Given the description of an element on the screen output the (x, y) to click on. 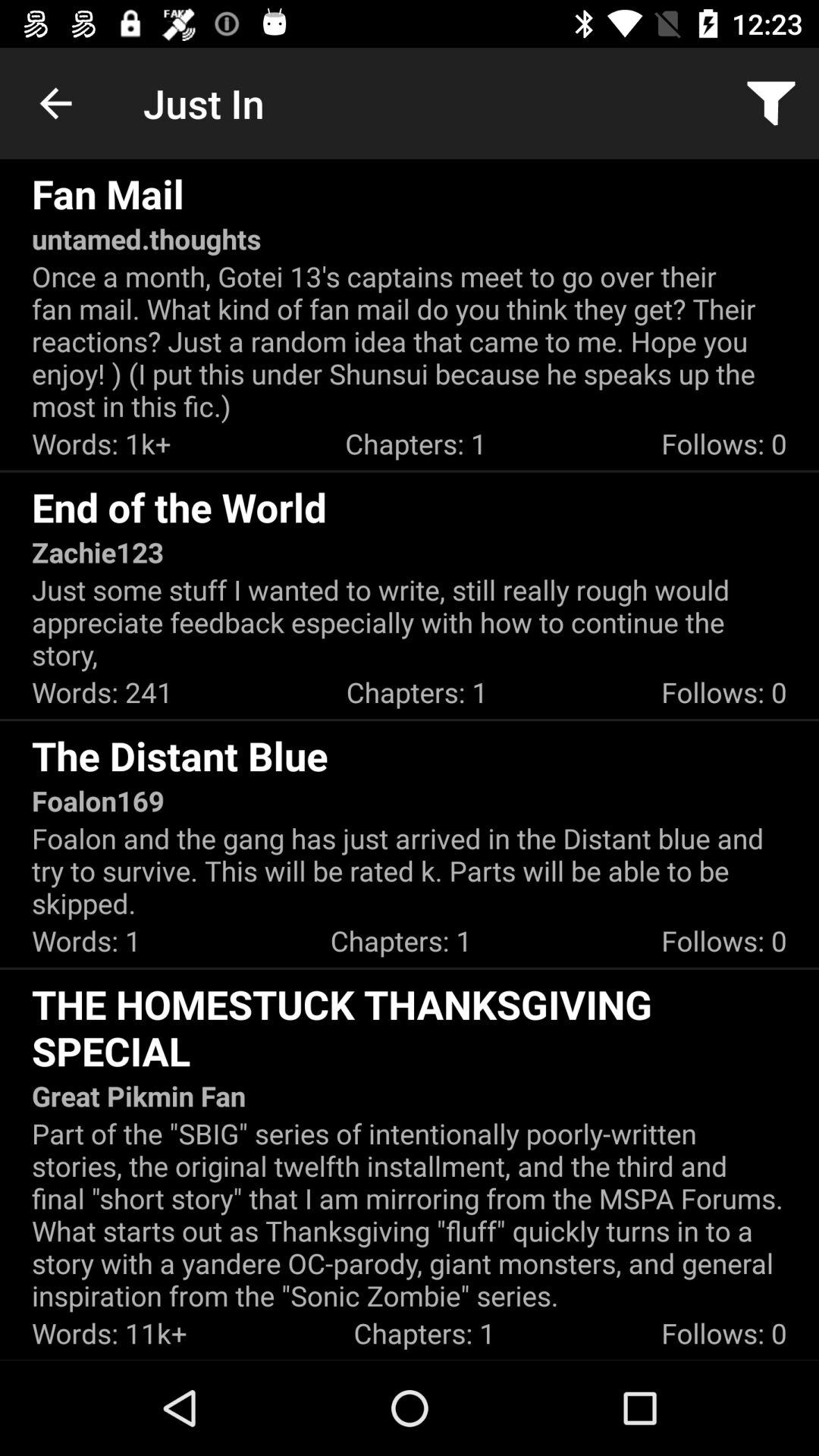
flip to the foalon169 (97, 800)
